Given the description of an element on the screen output the (x, y) to click on. 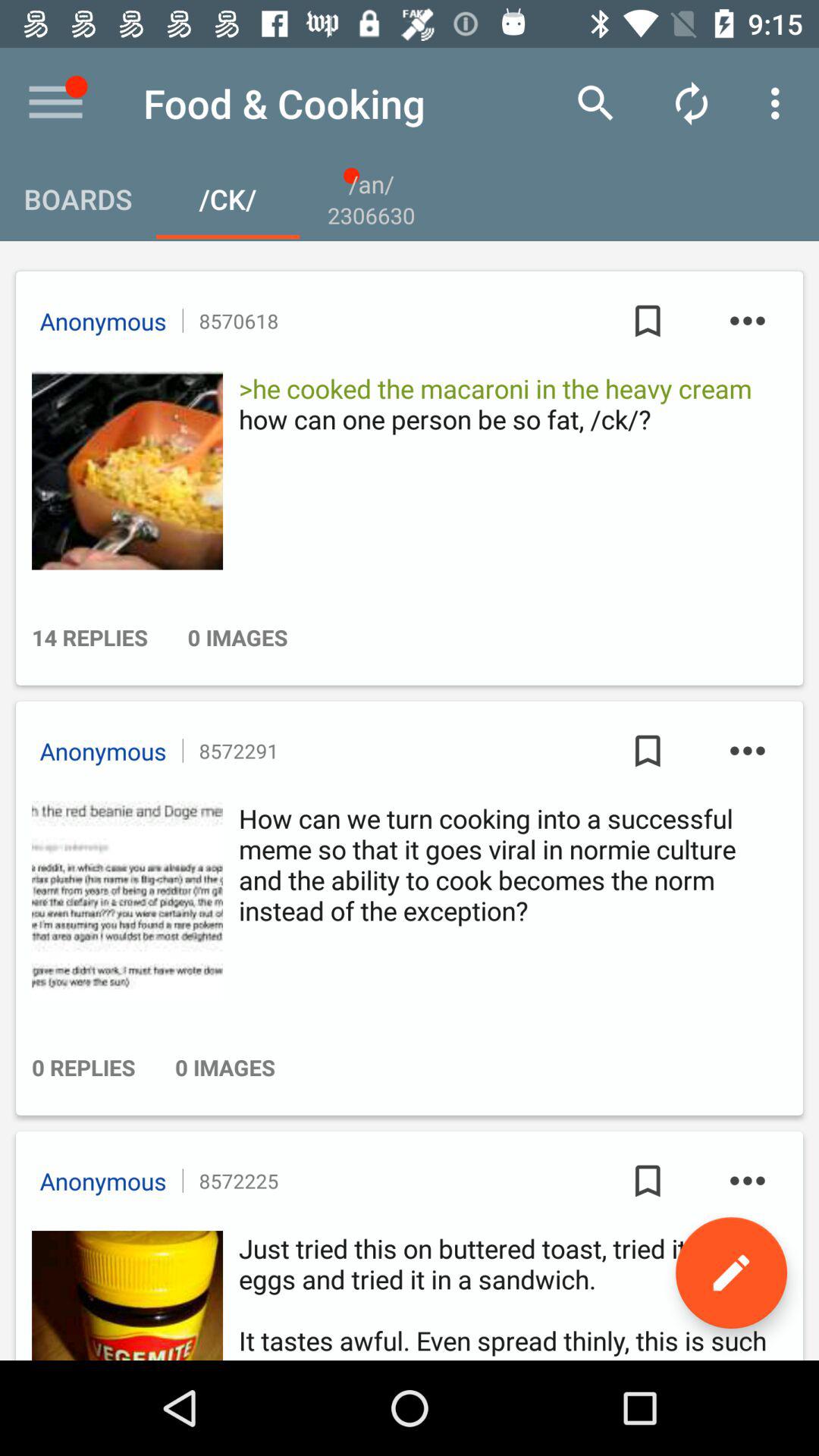
advertisement (122, 1295)
